Given the description of an element on the screen output the (x, y) to click on. 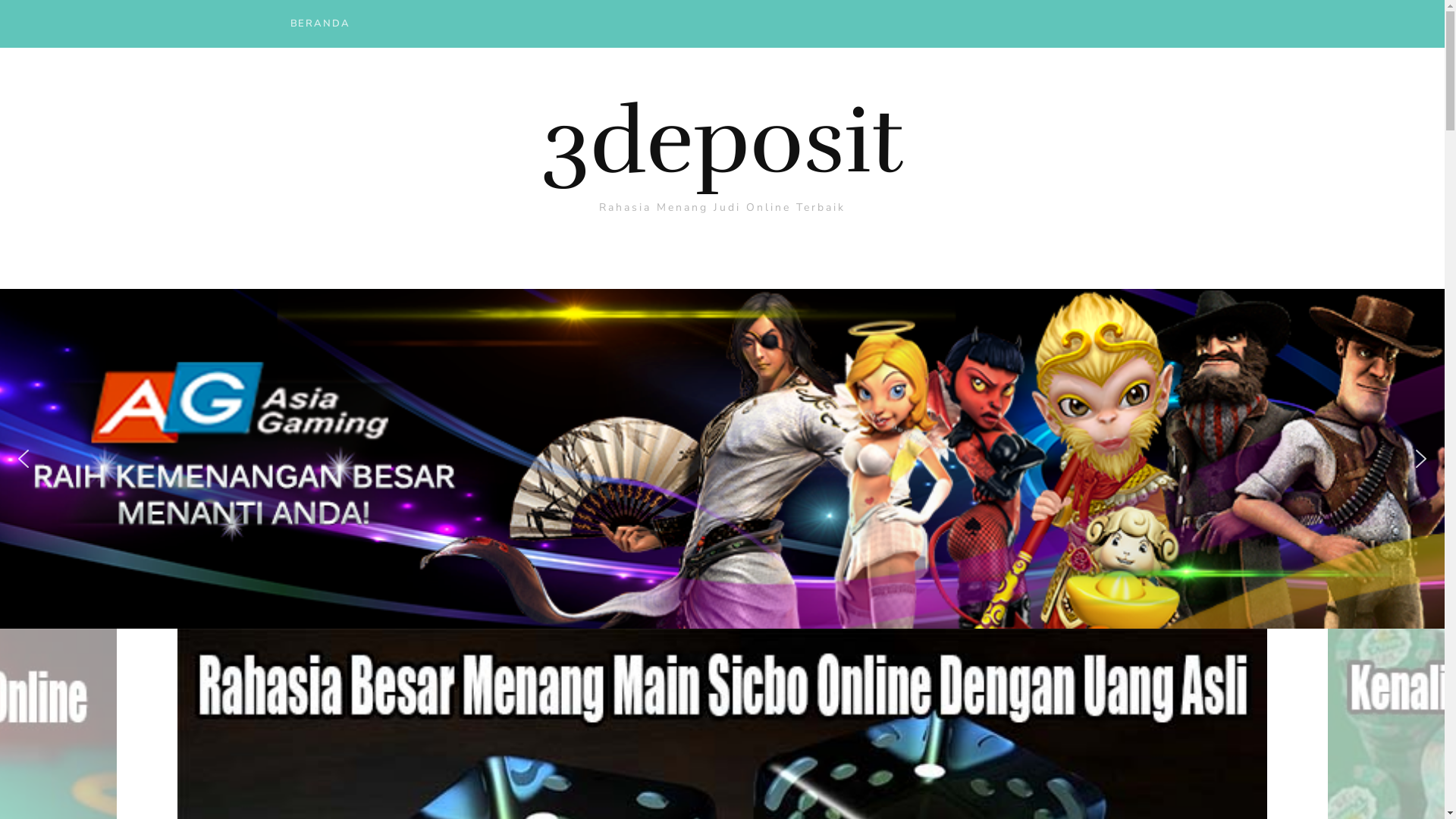
3deposit Element type: text (721, 141)
BERANDA Element type: text (319, 25)
